Given the description of an element on the screen output the (x, y) to click on. 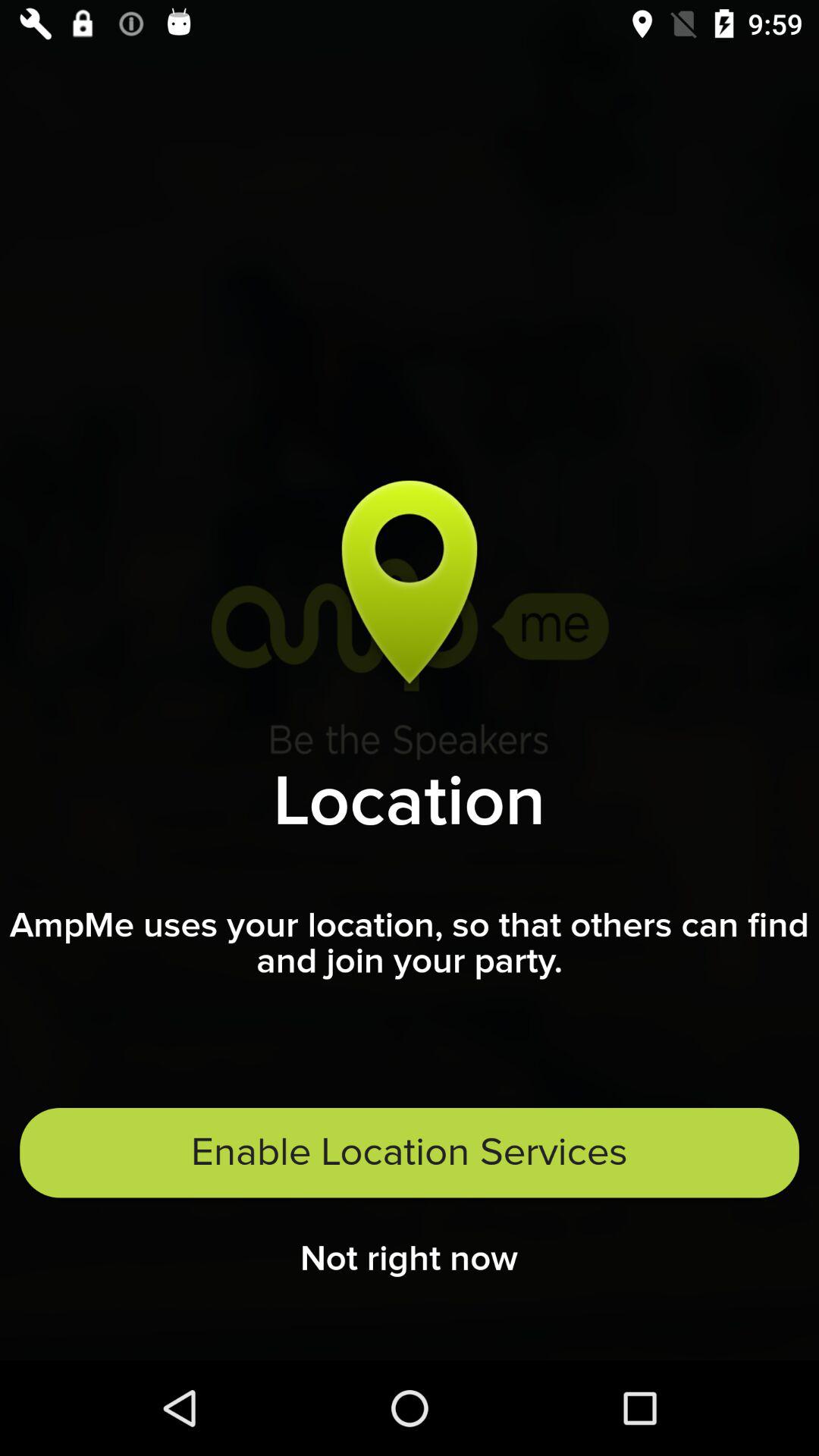
click item below the ampme uses your item (409, 1152)
